Given the description of an element on the screen output the (x, y) to click on. 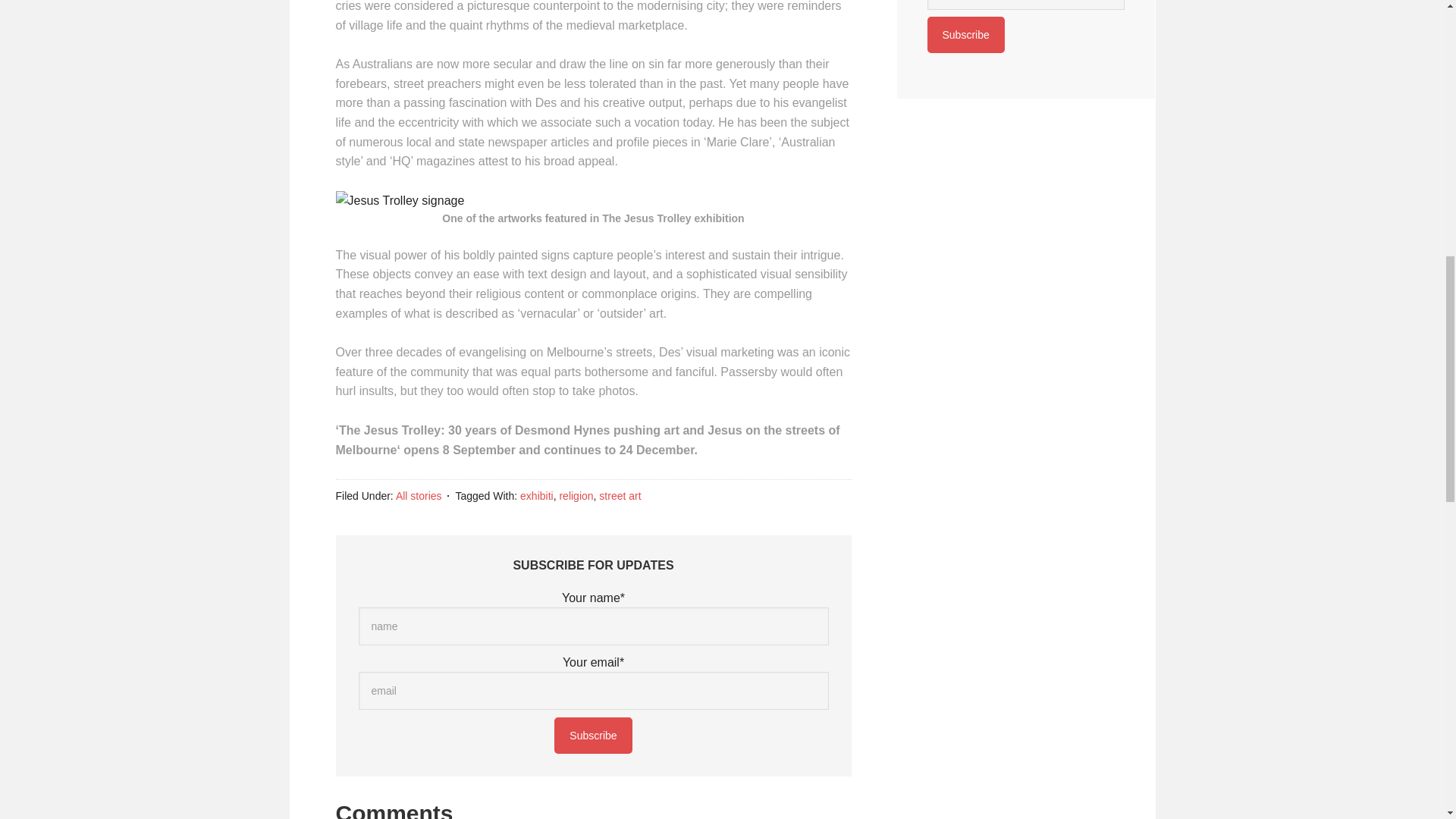
Subscribe (592, 735)
Subscribe (965, 34)
